Given the description of an element on the screen output the (x, y) to click on. 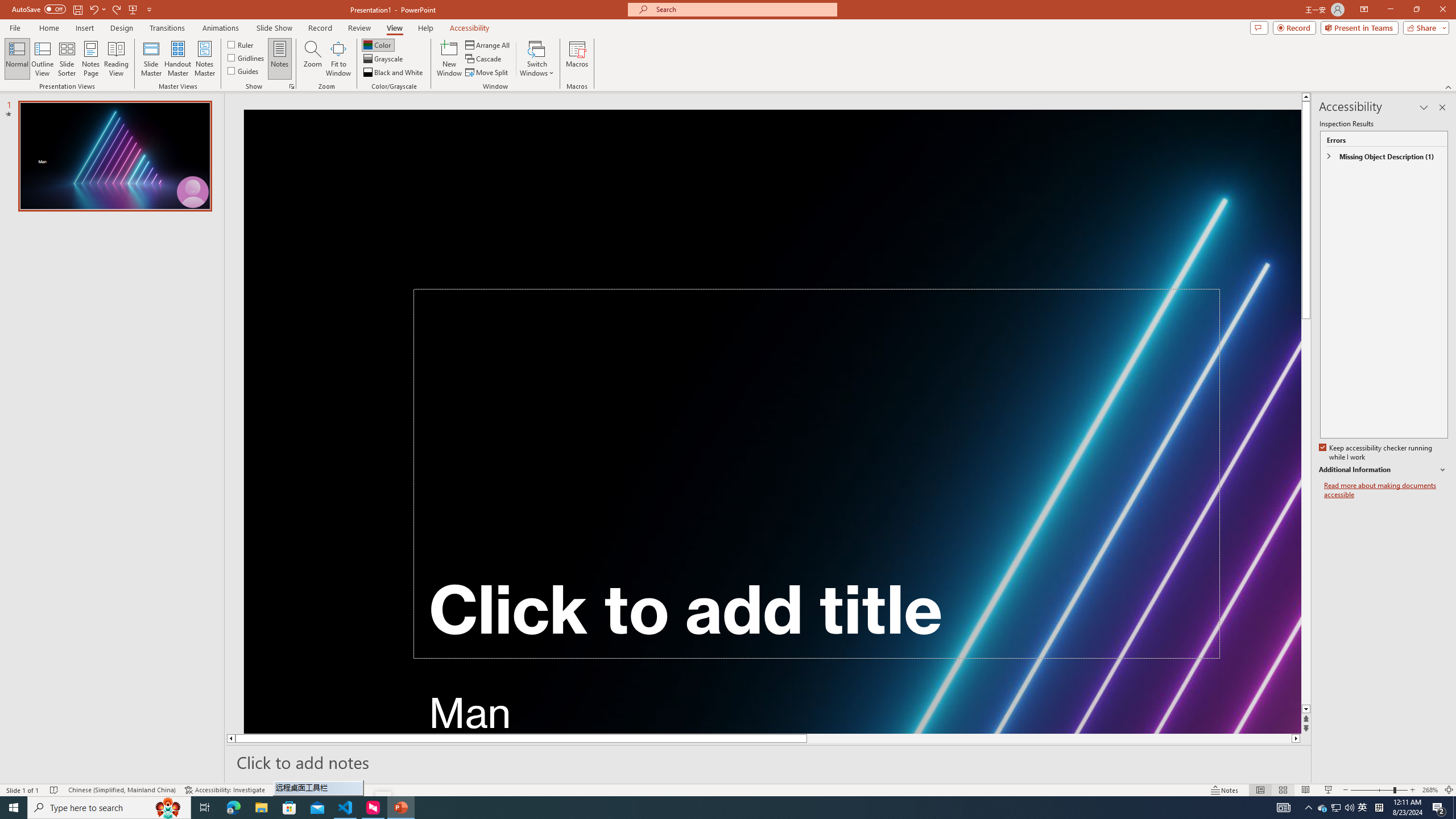
Zoom 268% (1430, 790)
Notes Master (204, 58)
Grid Settings... (291, 85)
Switch Windows (537, 58)
New Window (449, 58)
Gridlines (246, 56)
